Given the description of an element on the screen output the (x, y) to click on. 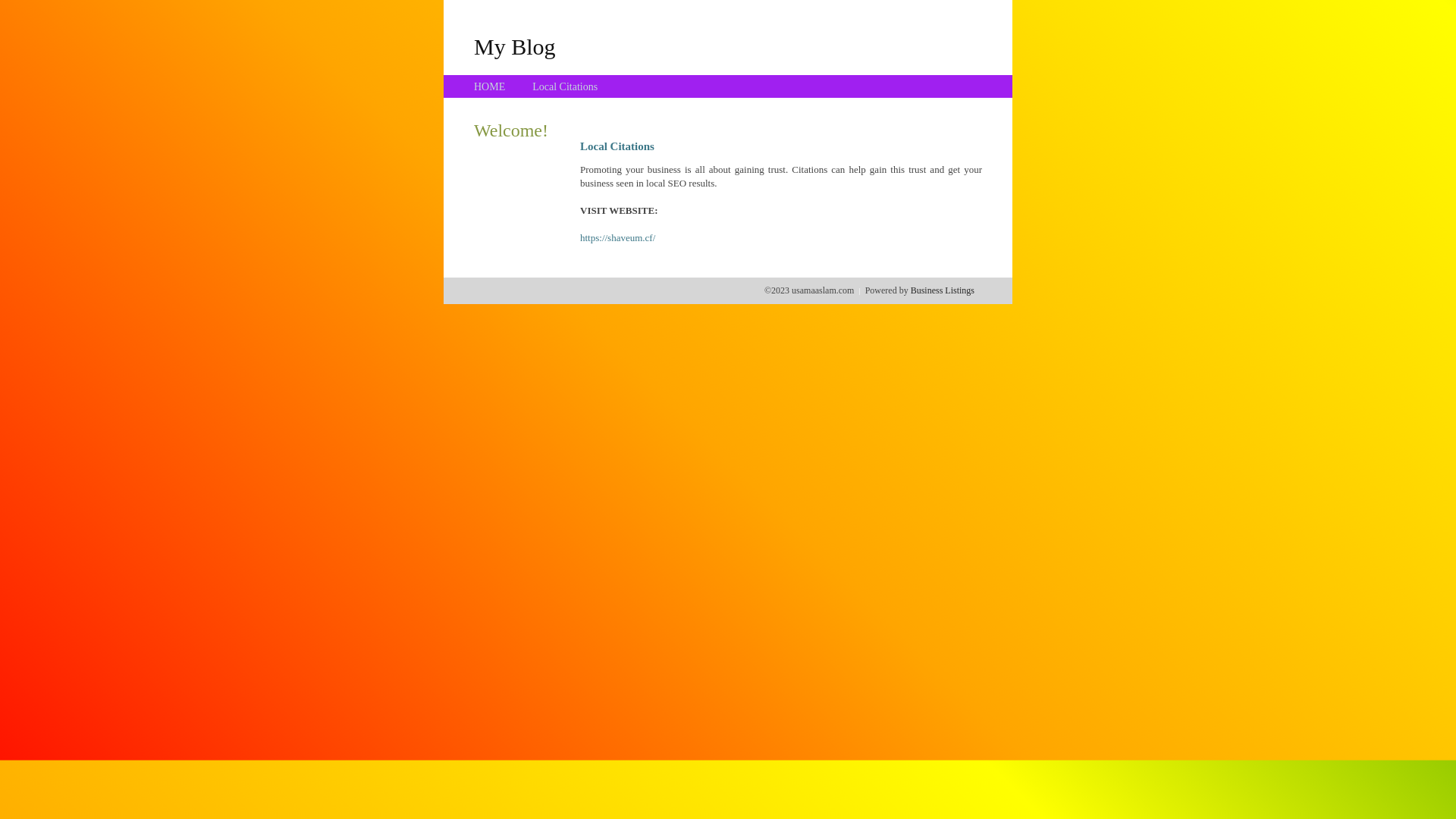
Local Citations Element type: text (564, 86)
https://shaveum.cf/ Element type: text (617, 237)
Business Listings Element type: text (942, 290)
My Blog Element type: text (514, 46)
HOME Element type: text (489, 86)
